Given the description of an element on the screen output the (x, y) to click on. 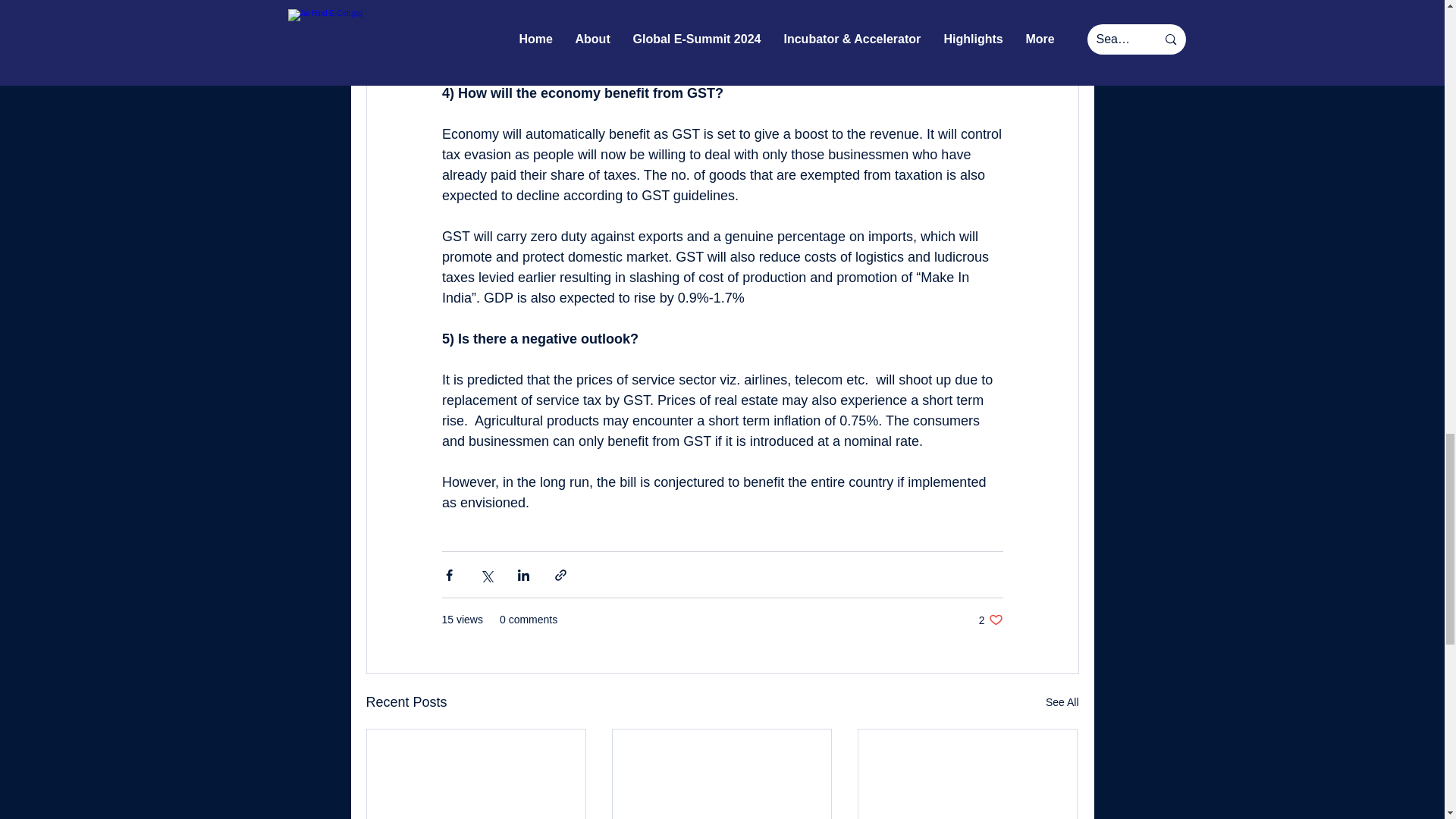
See All (1061, 702)
